Given the description of an element on the screen output the (x, y) to click on. 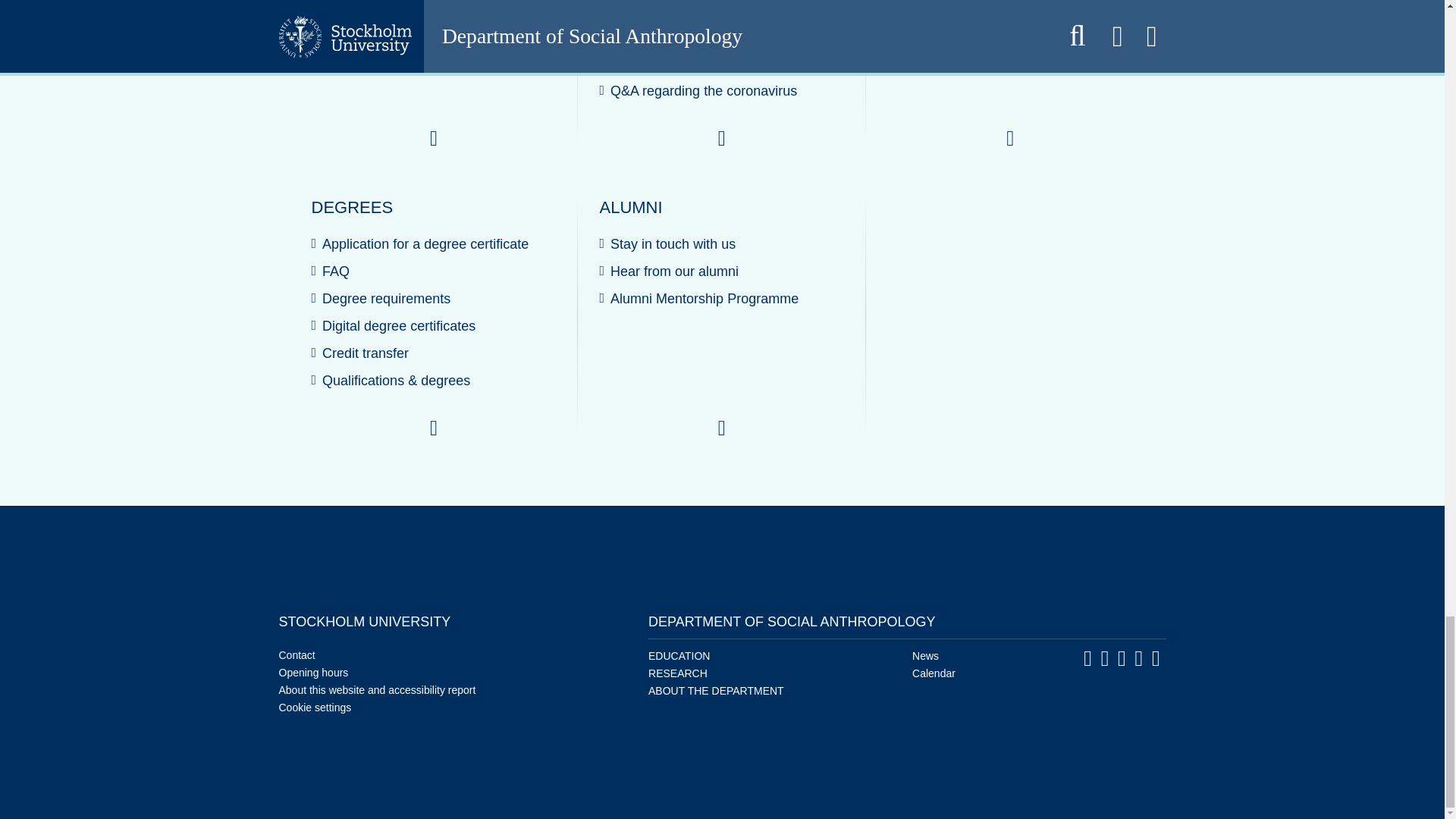
Review cookie settings (315, 706)
